Given the description of an element on the screen output the (x, y) to click on. 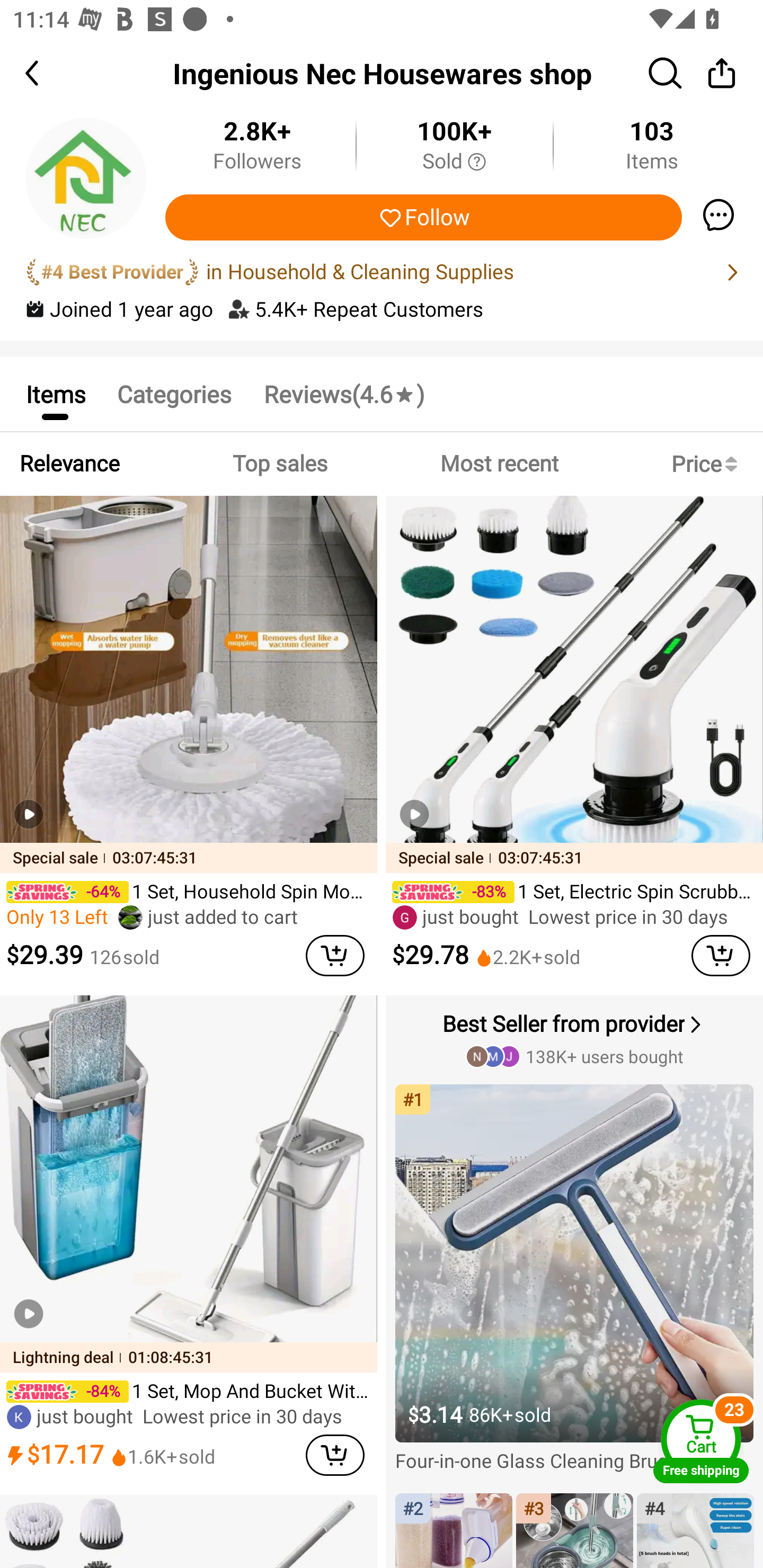
back (47, 72)
share (721, 72)
Sold (453, 161)
#4 Best Provider in Household & Cleaning Supplies (381, 272)
Items (55, 393)
Categories (174, 393)
Reviews(4.6 ) (343, 393)
Relevance (69, 463)
Top sales (279, 463)
Most recent (498, 463)
Price (707, 463)
cart delete (334, 955)
cart delete (720, 955)
Best Seller from provider 138K+ users bought (576, 1037)
Cart Free shipping Cart (701, 1440)
cart delete (334, 1454)
#2 (453, 1530)
#3 (574, 1530)
#4 (695, 1530)
